Given the description of an element on the screen output the (x, y) to click on. 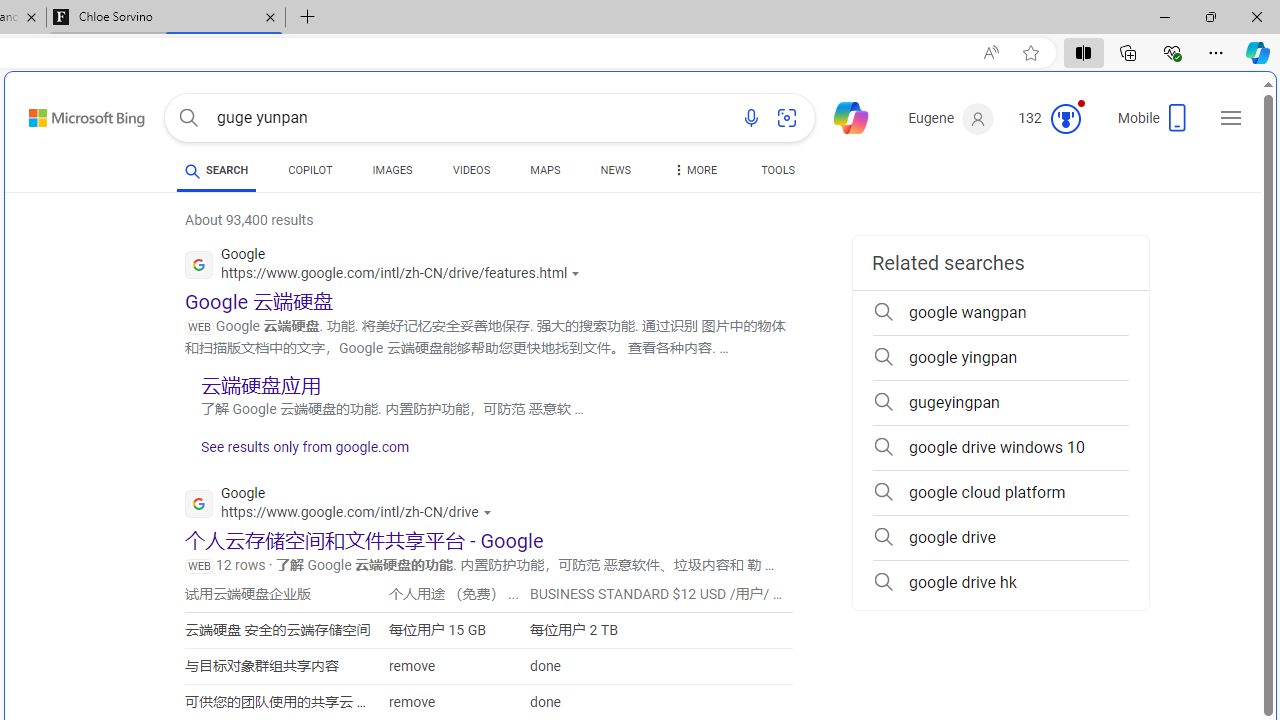
google drive hk (1000, 582)
Class: outer-circle-animation (1065, 118)
Settings and more (Alt+F) (1215, 52)
Actions for this site (489, 512)
Minimize (1164, 16)
See results only from google.com (297, 452)
google wangpan (1000, 312)
COPILOT (310, 170)
Back to Bing search (74, 113)
Search button (188, 117)
VIDEOS (471, 170)
Dropdown Menu (693, 170)
Eugene (950, 119)
google drive windows 10 (1000, 448)
